Given the description of an element on the screen output the (x, y) to click on. 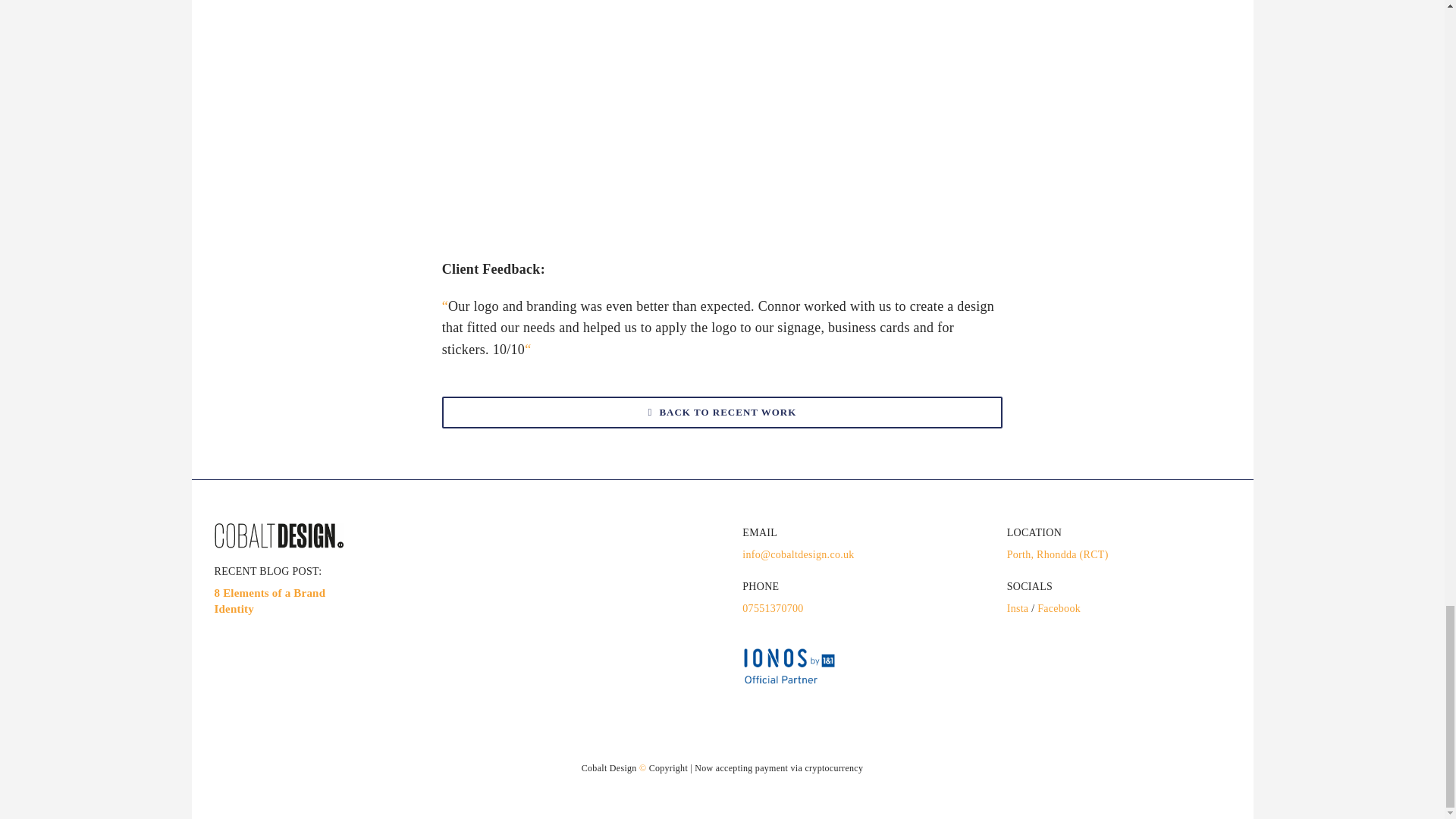
Facebook (1058, 608)
8 Elements of a Brand Identity (269, 601)
07551370700 (772, 608)
Insta (1018, 608)
BACK TO RECENT WORK (722, 412)
